Given the description of an element on the screen output the (x, y) to click on. 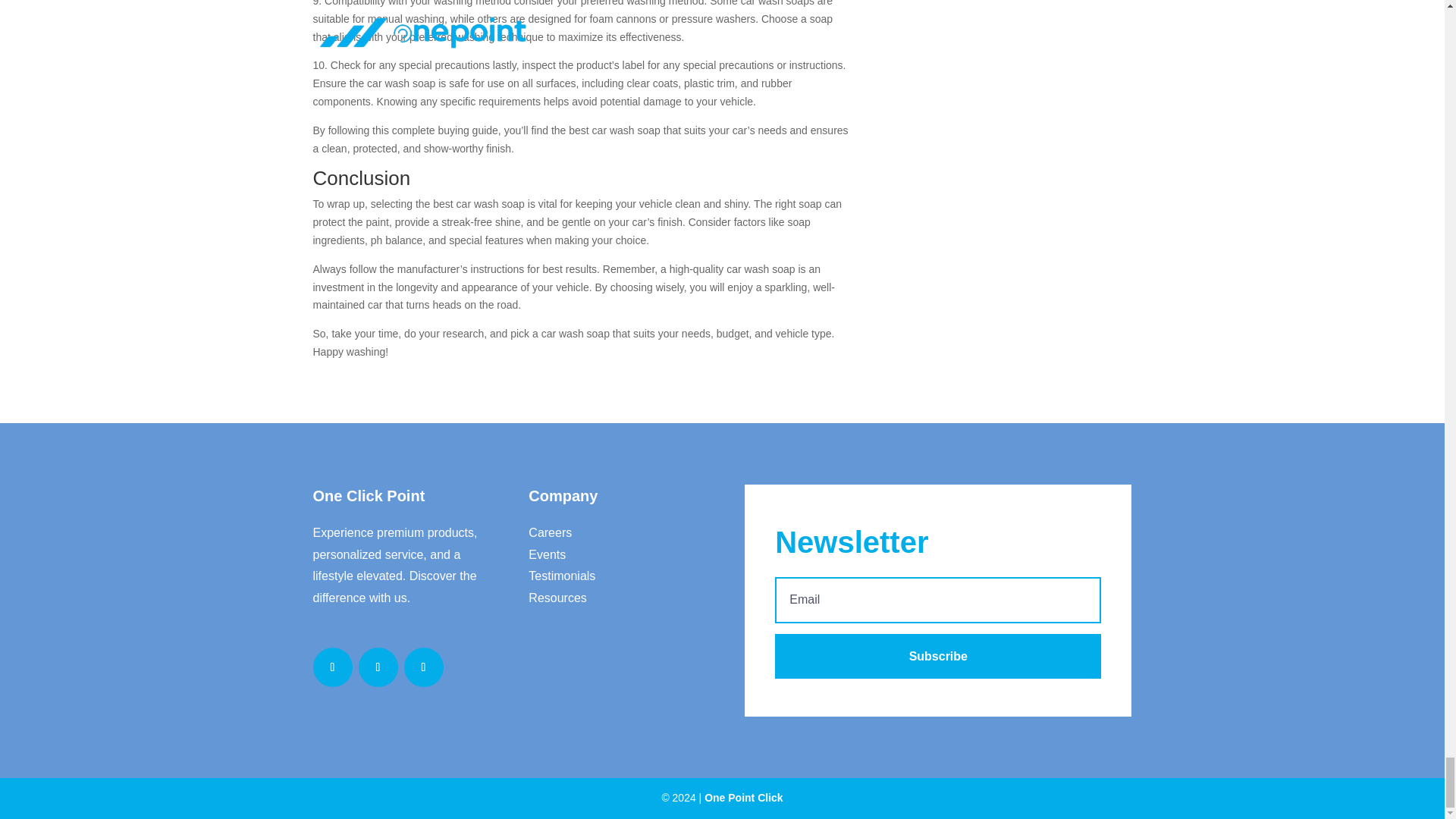
Follow on Facebook (332, 667)
Follow on X (377, 667)
Follow on LinkedIn (422, 667)
